Given the description of an element on the screen output the (x, y) to click on. 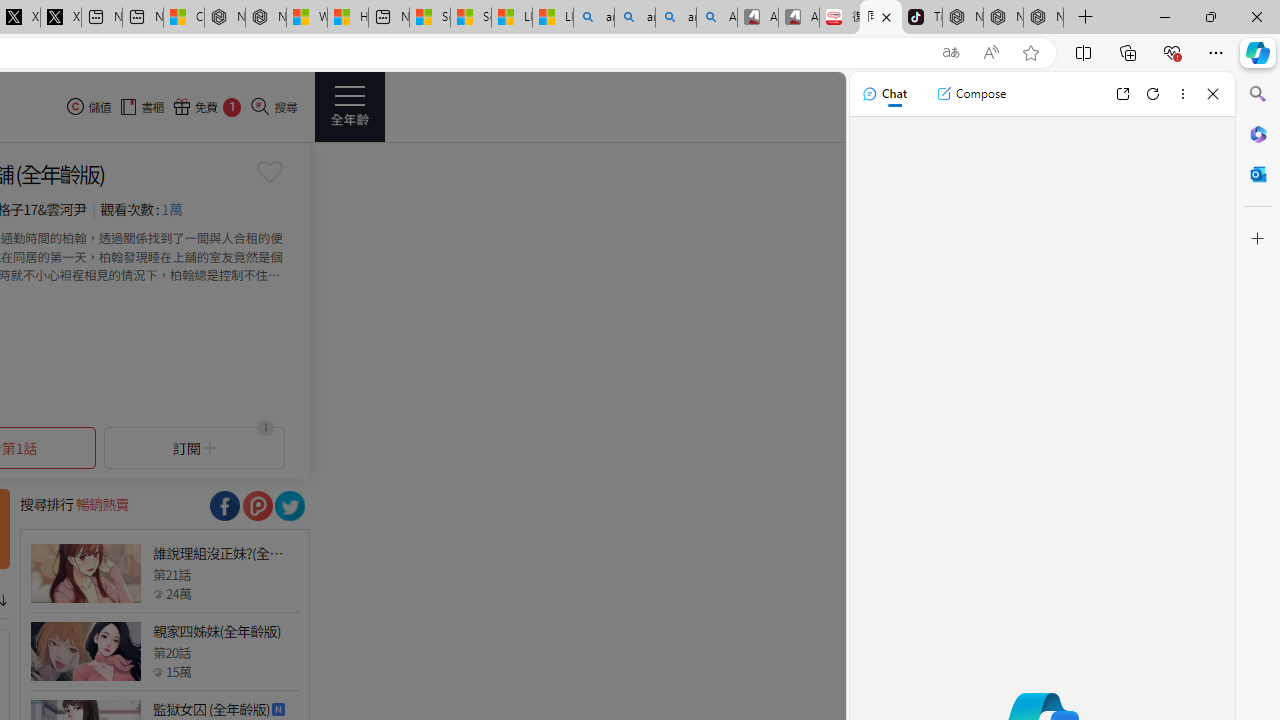
Class: thumb_img (85, 651)
Nordace - Siena Pro 15 Essential Set (1043, 17)
Class: side_menu_btn actionRightMenuBtn (349, 106)
Compose (971, 93)
